Given the description of an element on the screen output the (x, y) to click on. 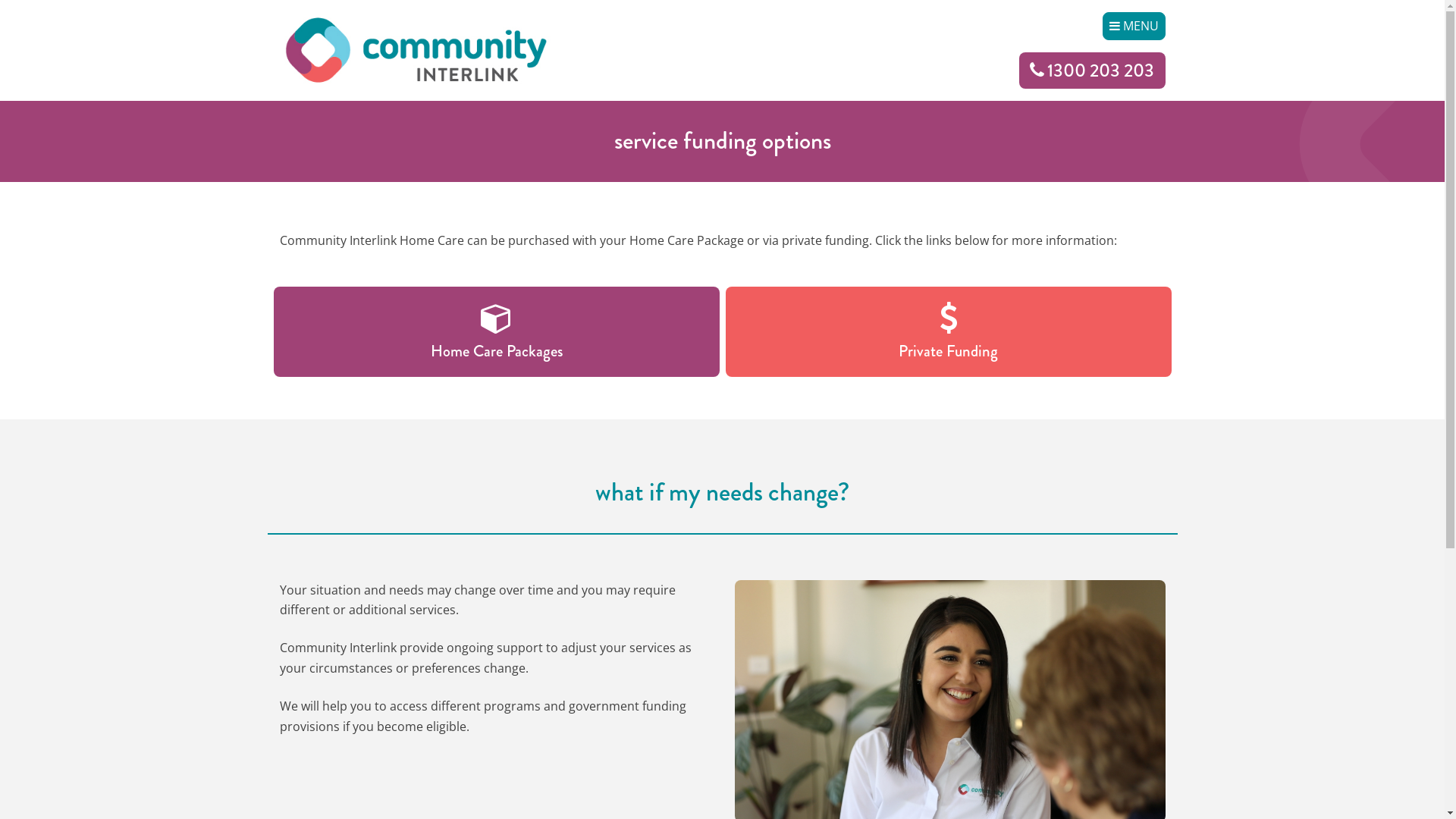
Private Funding Element type: text (947, 331)
MENU Element type: text (1133, 26)
1300 203 203 Element type: text (1092, 70)
Home Care Packages Element type: text (495, 331)
